Given the description of an element on the screen output the (x, y) to click on. 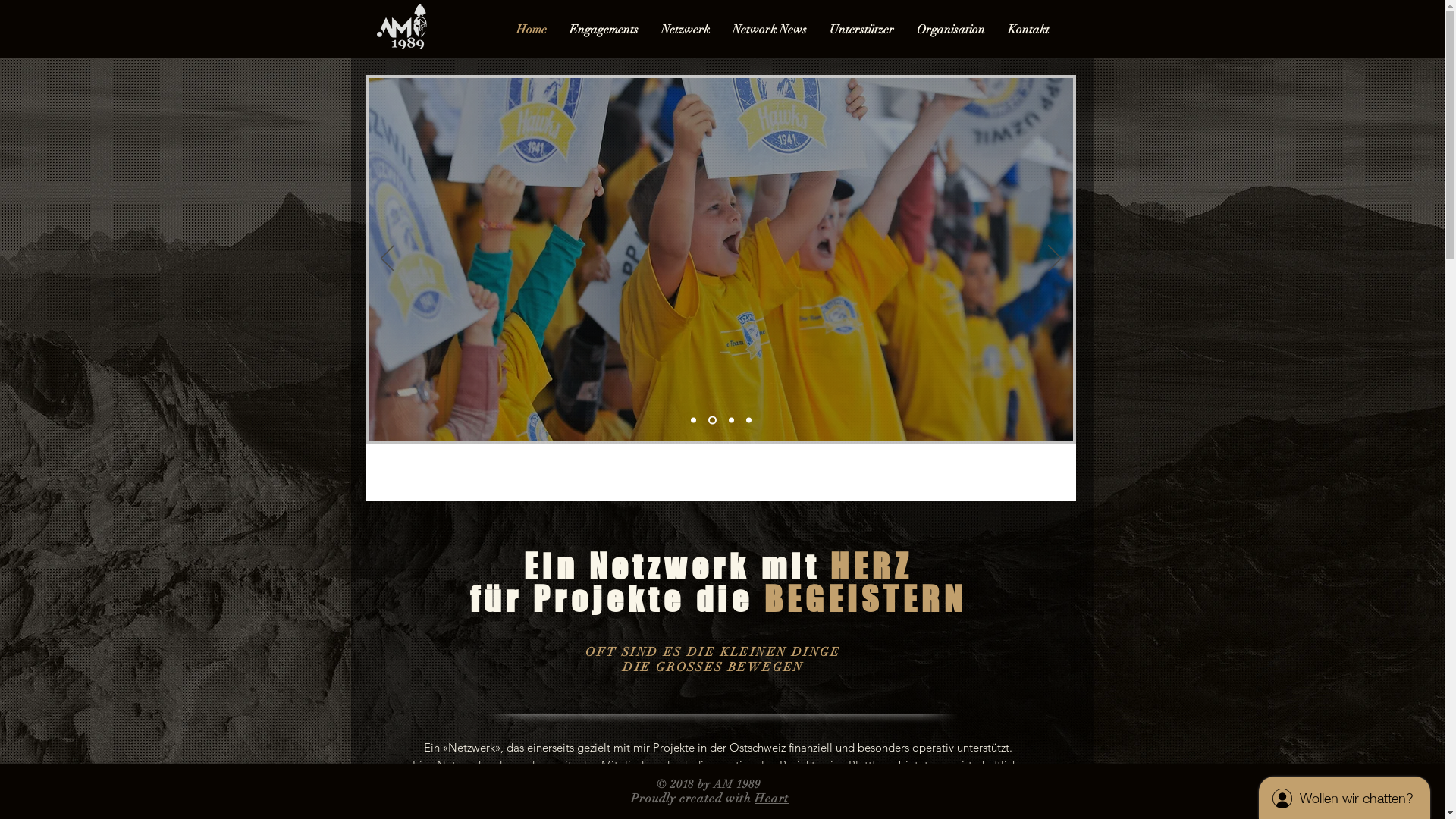
Engagements Element type: text (603, 29)
Kontakt Element type: text (1028, 29)
Home Element type: text (531, 29)
Organisation Element type: text (950, 29)
Heart Element type: text (771, 798)
Network News Element type: text (769, 29)
Netzwerk Element type: text (685, 29)
